Given the description of an element on the screen output the (x, y) to click on. 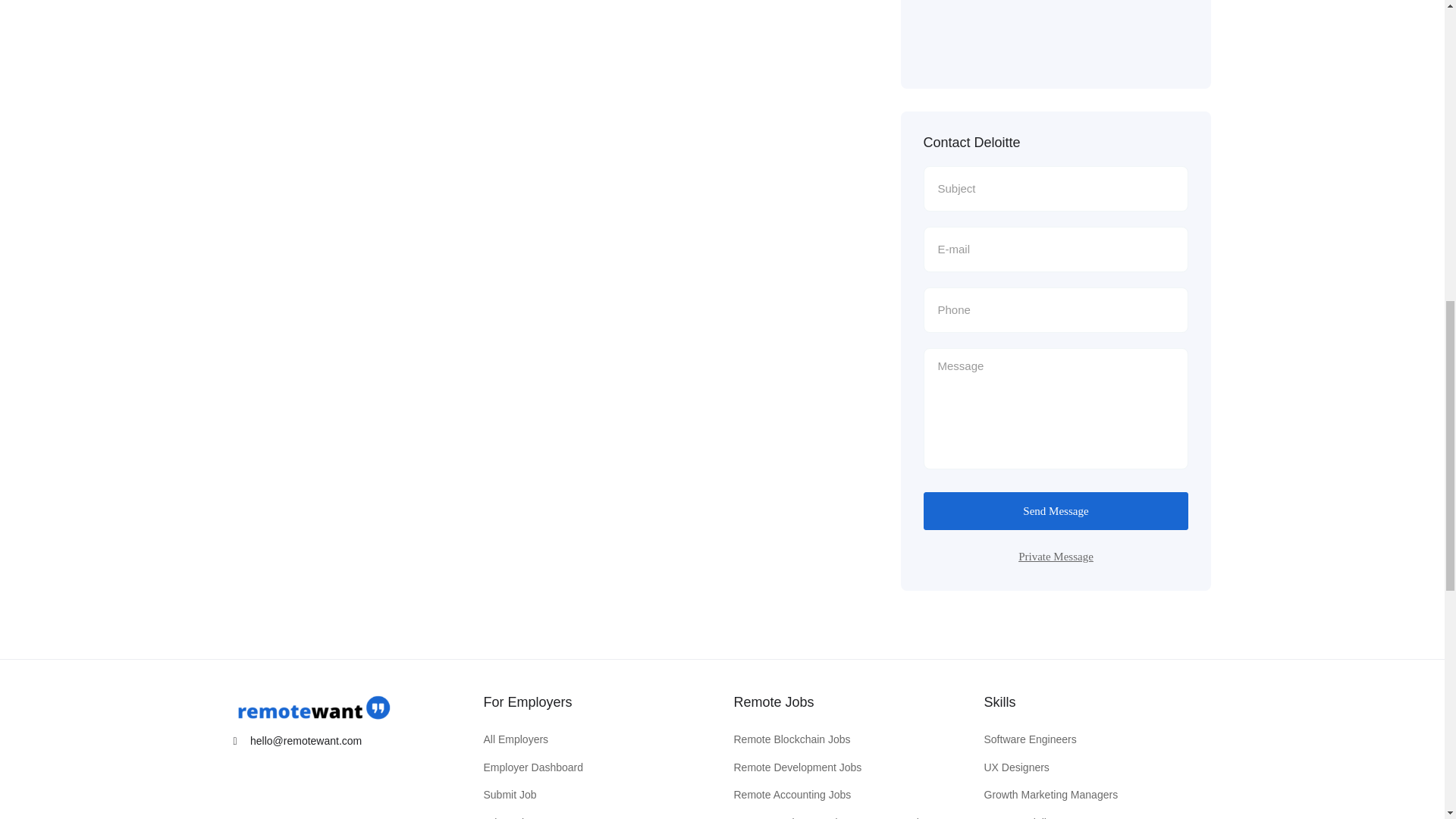
remote jobs for software engineers (1030, 739)
Remote Jobs for Growth Marketing Managers (1051, 794)
Remote Jobs for SEO Specialist (1019, 816)
Remote Jobs for UX Designers (1016, 767)
